Given the description of an element on the screen output the (x, y) to click on. 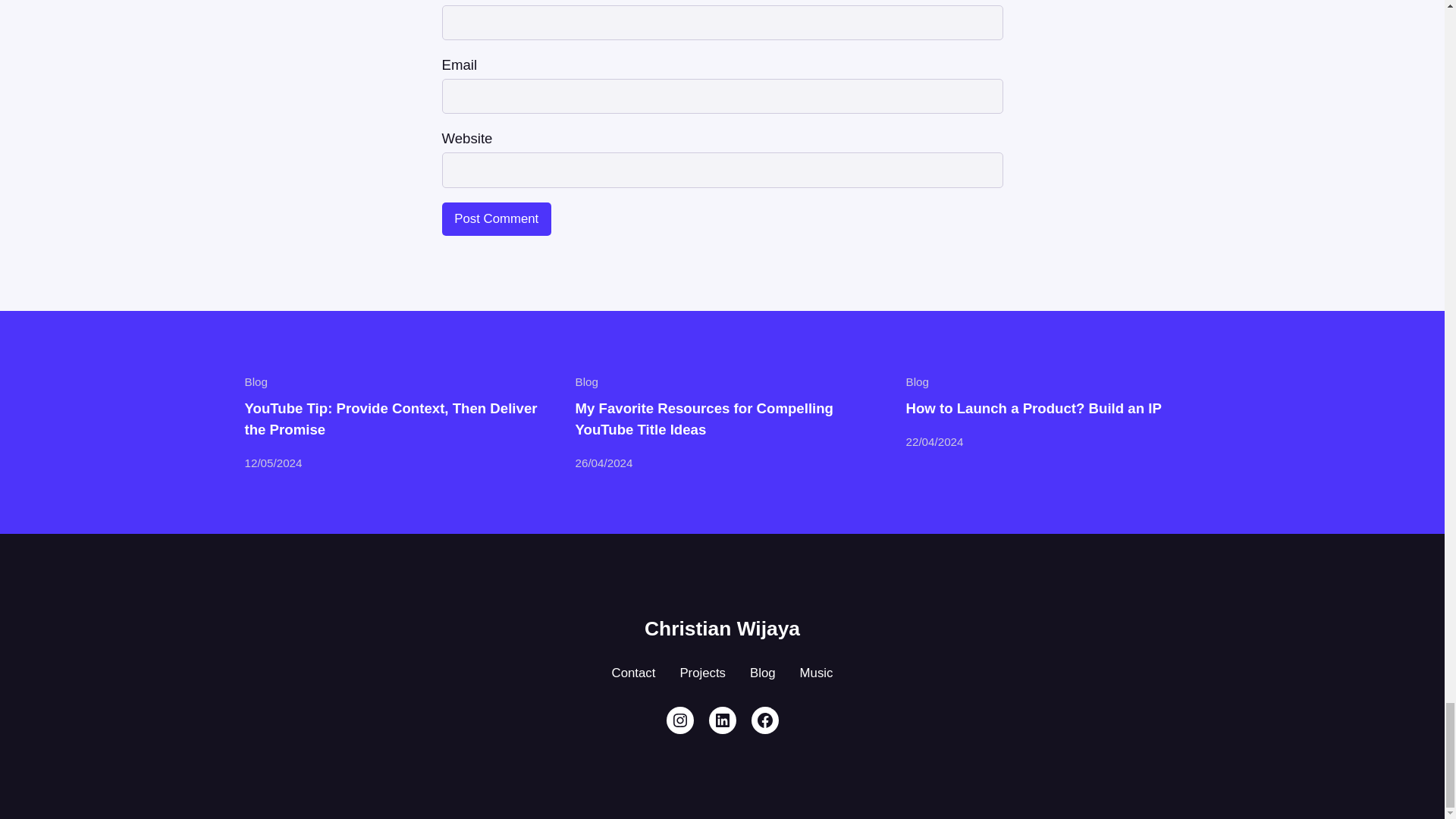
YouTube Tip: Provide Context, Then Deliver the Promise (391, 418)
Blog (916, 381)
Blog (585, 381)
Christian Wijaya (722, 628)
Blog (255, 381)
Post Comment (496, 218)
LinkedIn (721, 719)
Post Comment (496, 218)
Instagram (679, 719)
My Favorite Resources for Compelling YouTube Title Ideas (722, 418)
